Given the description of an element on the screen output the (x, y) to click on. 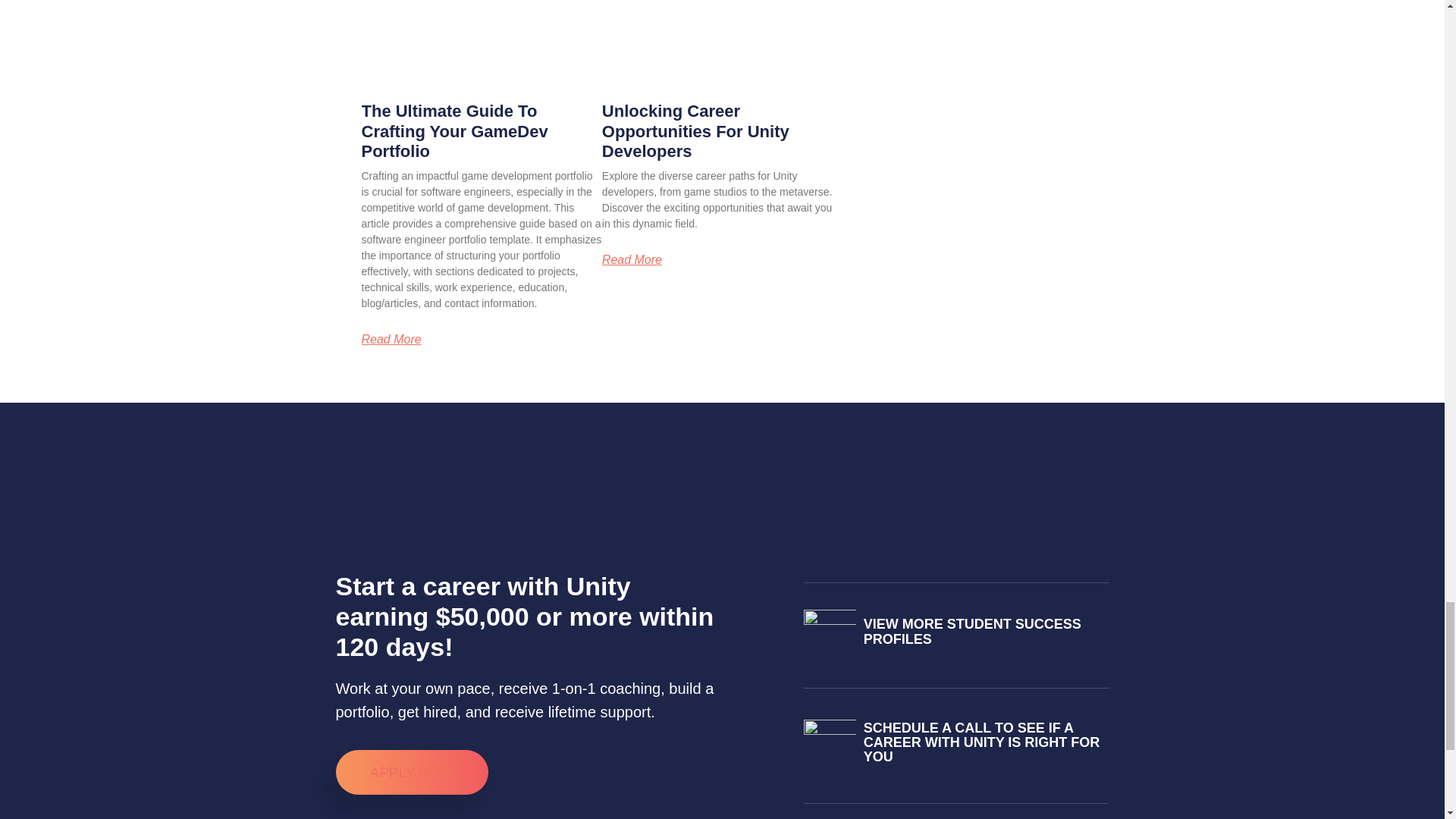
APPLY NOW (410, 772)
The Ultimate Guide To Crafting Your GameDev Portfolio (454, 130)
Unlocking Career Opportunities For Unity Developers (695, 130)
Read More (632, 259)
Read More (390, 339)
